Given the description of an element on the screen output the (x, y) to click on. 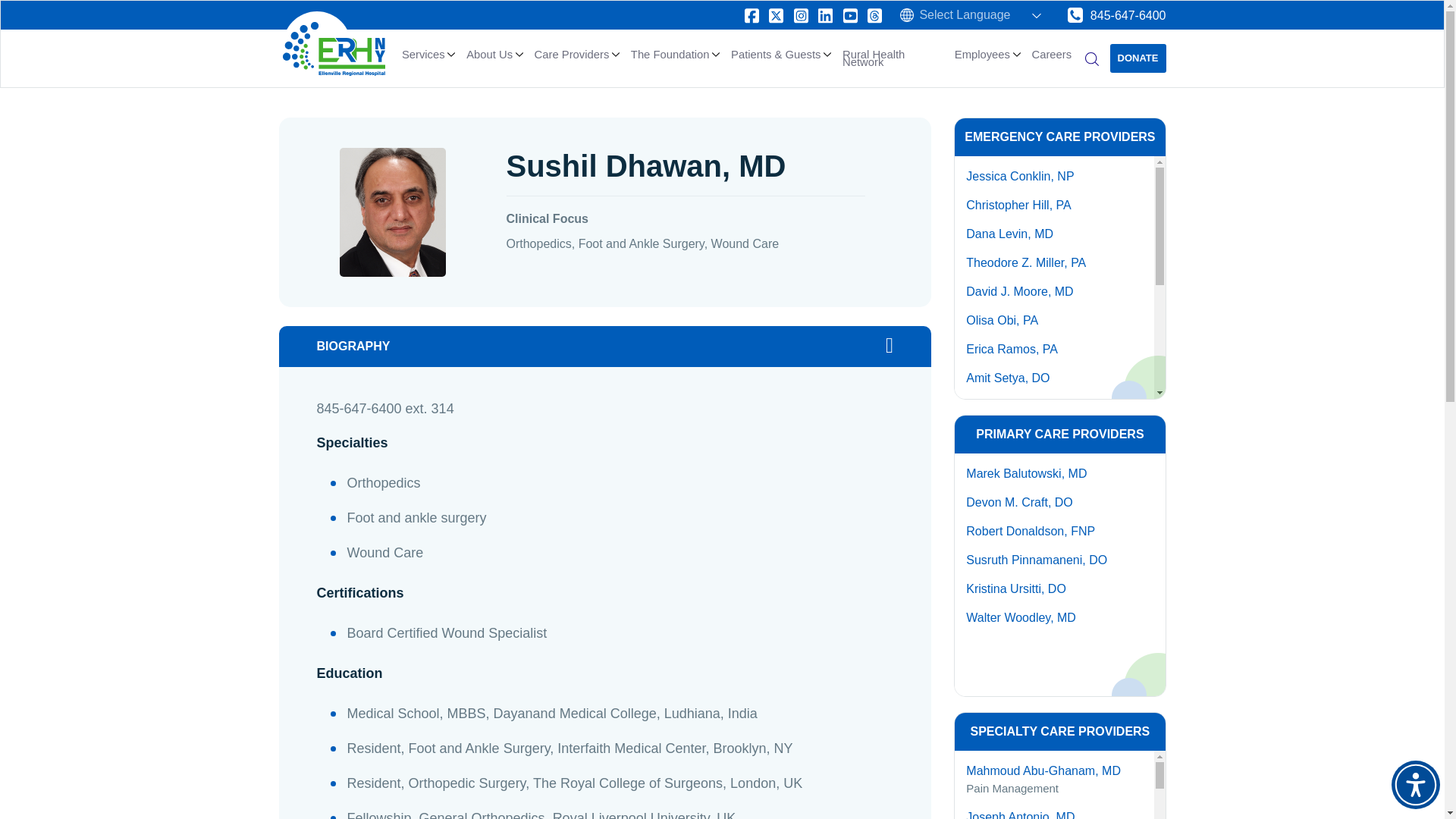
Accessibility Menu (1415, 784)
